Given the description of an element on the screen output the (x, y) to click on. 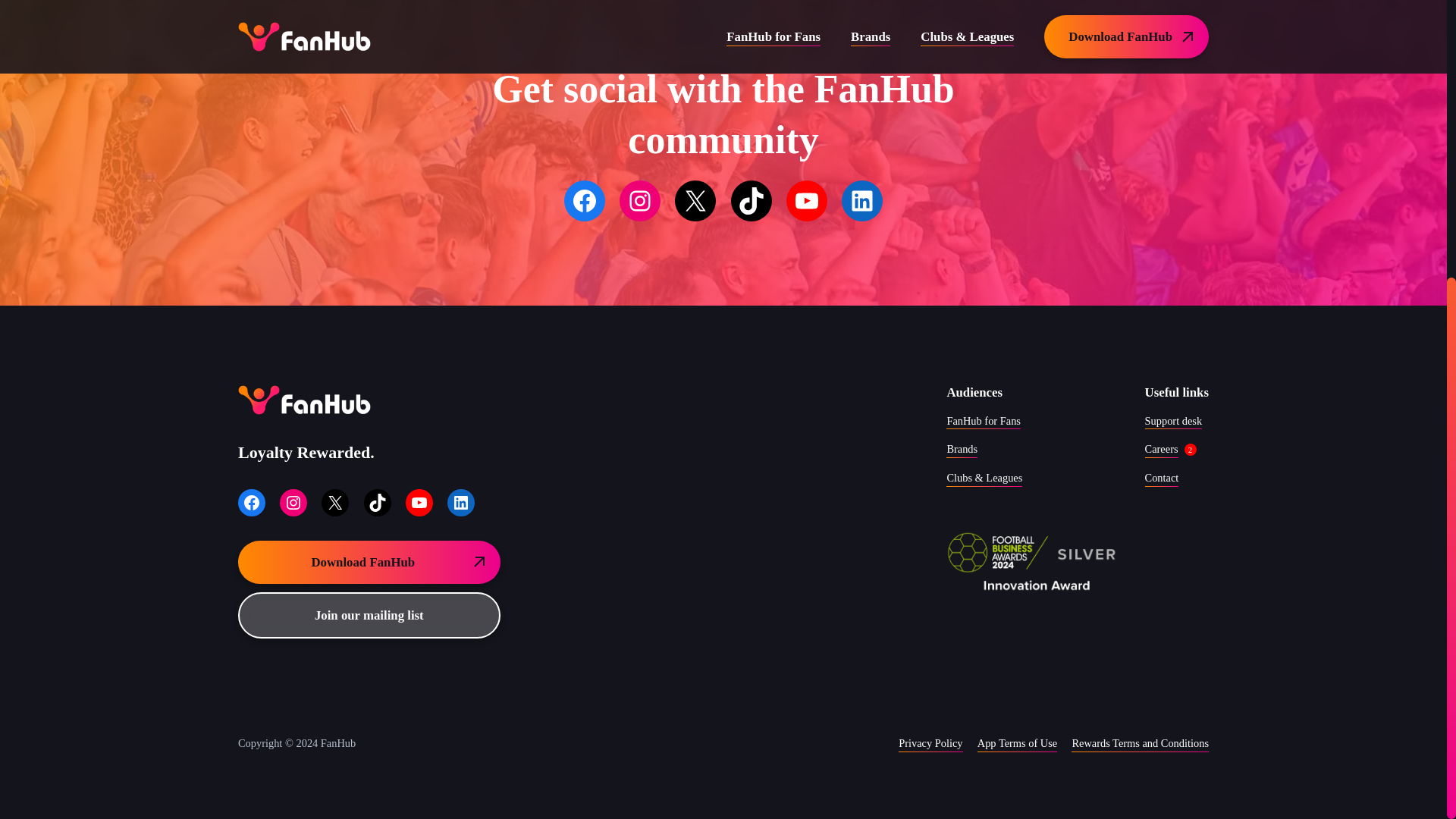
TikTok (377, 530)
Join our mailing list (369, 632)
Facebook (251, 538)
Careers (1160, 458)
App Terms of Use (1016, 748)
Brands (961, 462)
YouTube (806, 200)
Download FanHub (369, 581)
X (335, 533)
Contact (1161, 485)
